Given the description of an element on the screen output the (x, y) to click on. 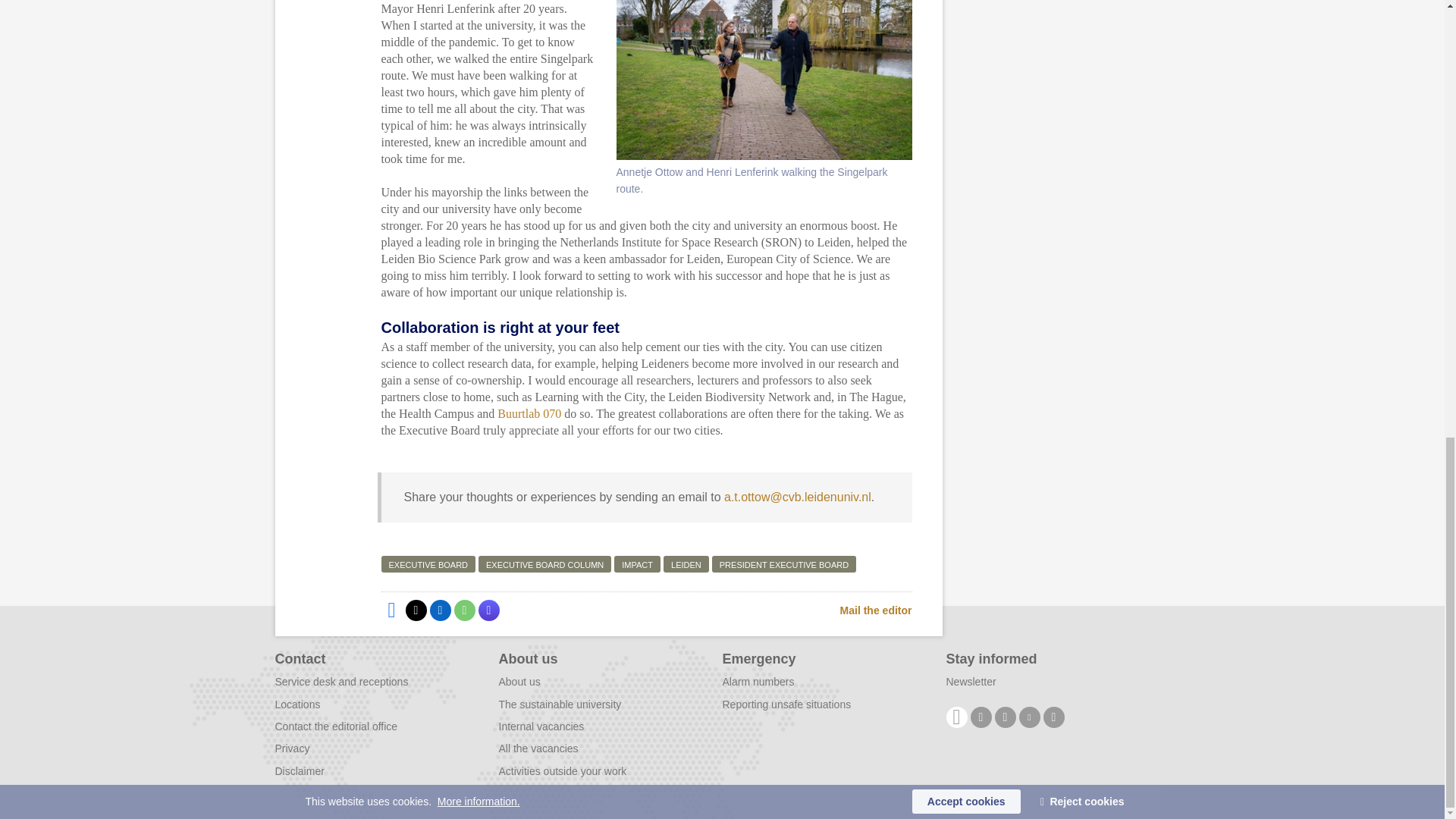
Share on X (415, 609)
Share by Mastodon (488, 609)
Share on Facebook (390, 609)
Share by WhatsApp (463, 609)
Share on LinkedIn (439, 609)
